Given the description of an element on the screen output the (x, y) to click on. 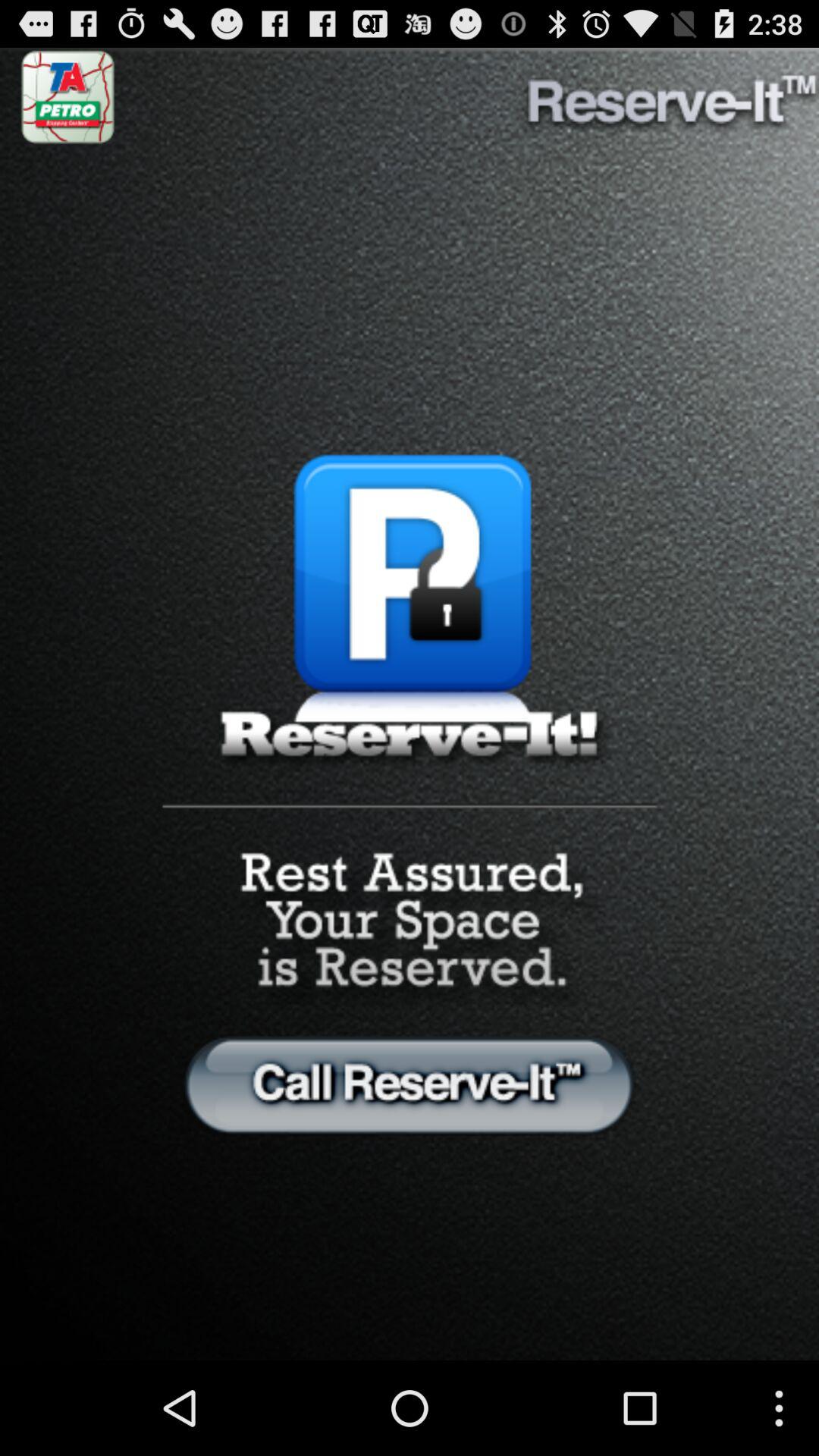
place telephone call (409, 1084)
